Given the description of an element on the screen output the (x, y) to click on. 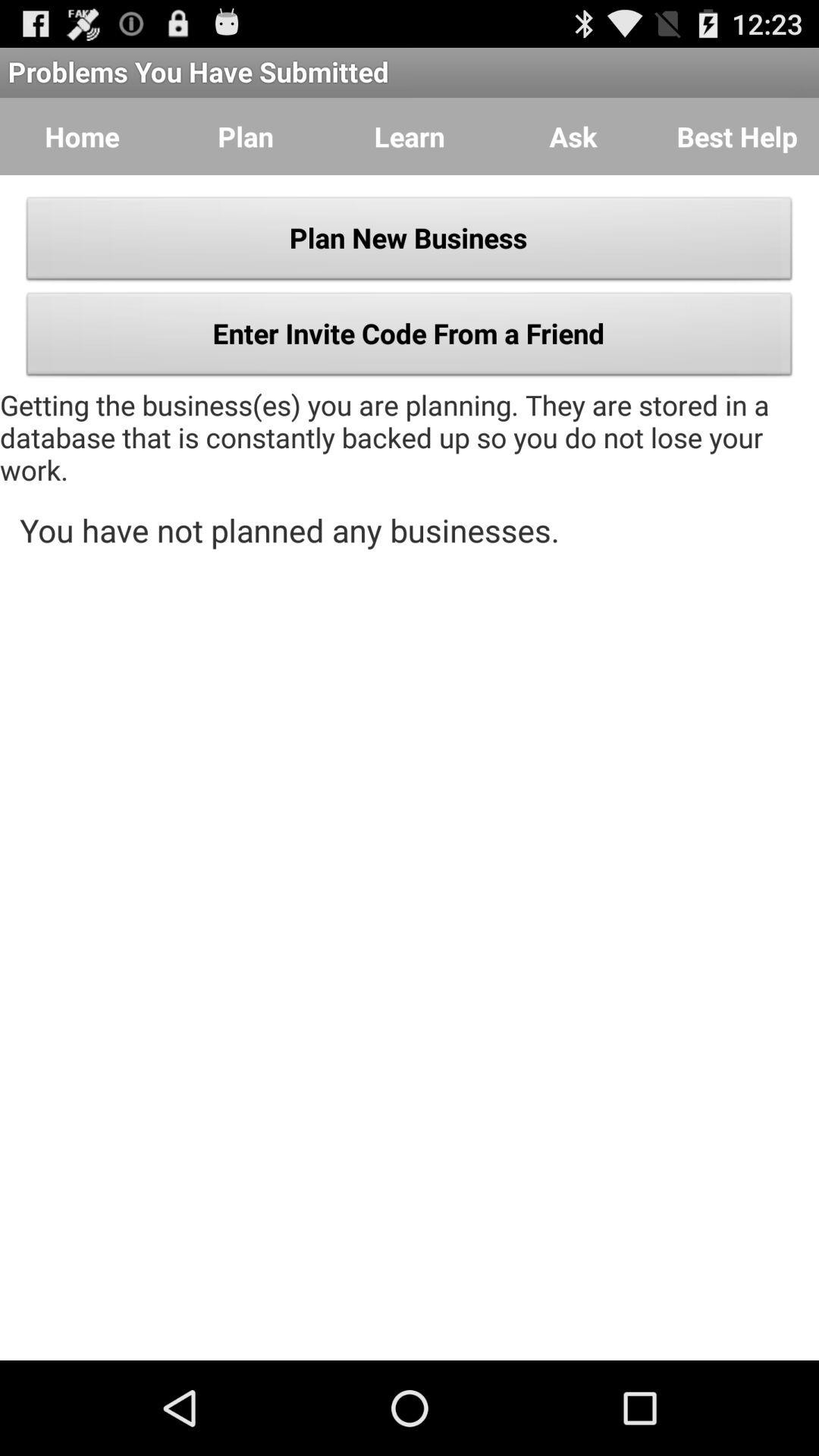
turn off the icon to the left of plan item (81, 136)
